Given the description of an element on the screen output the (x, y) to click on. 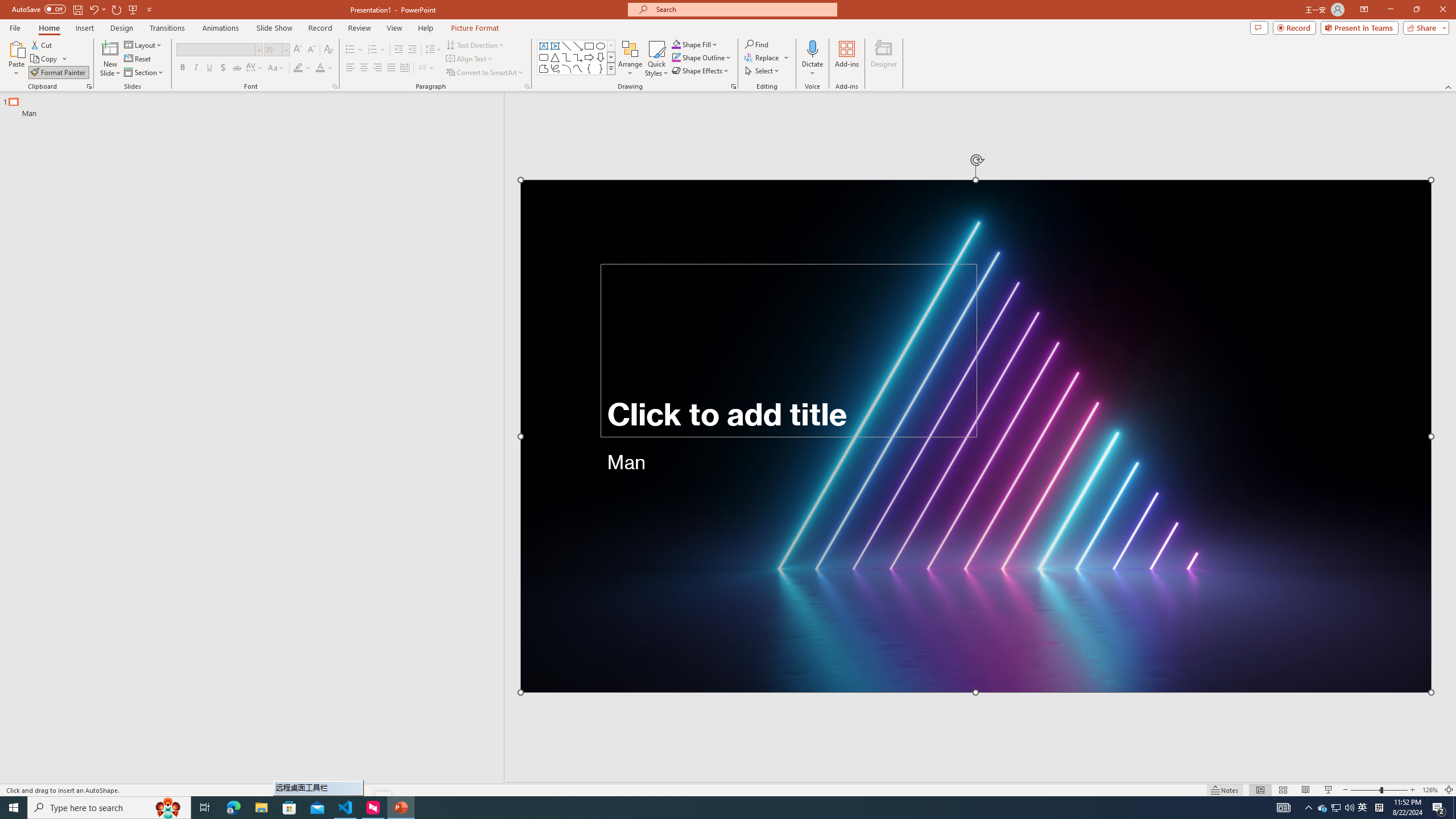
Outline (256, 104)
Rectangle (246, 437)
